Given the description of an element on the screen output the (x, y) to click on. 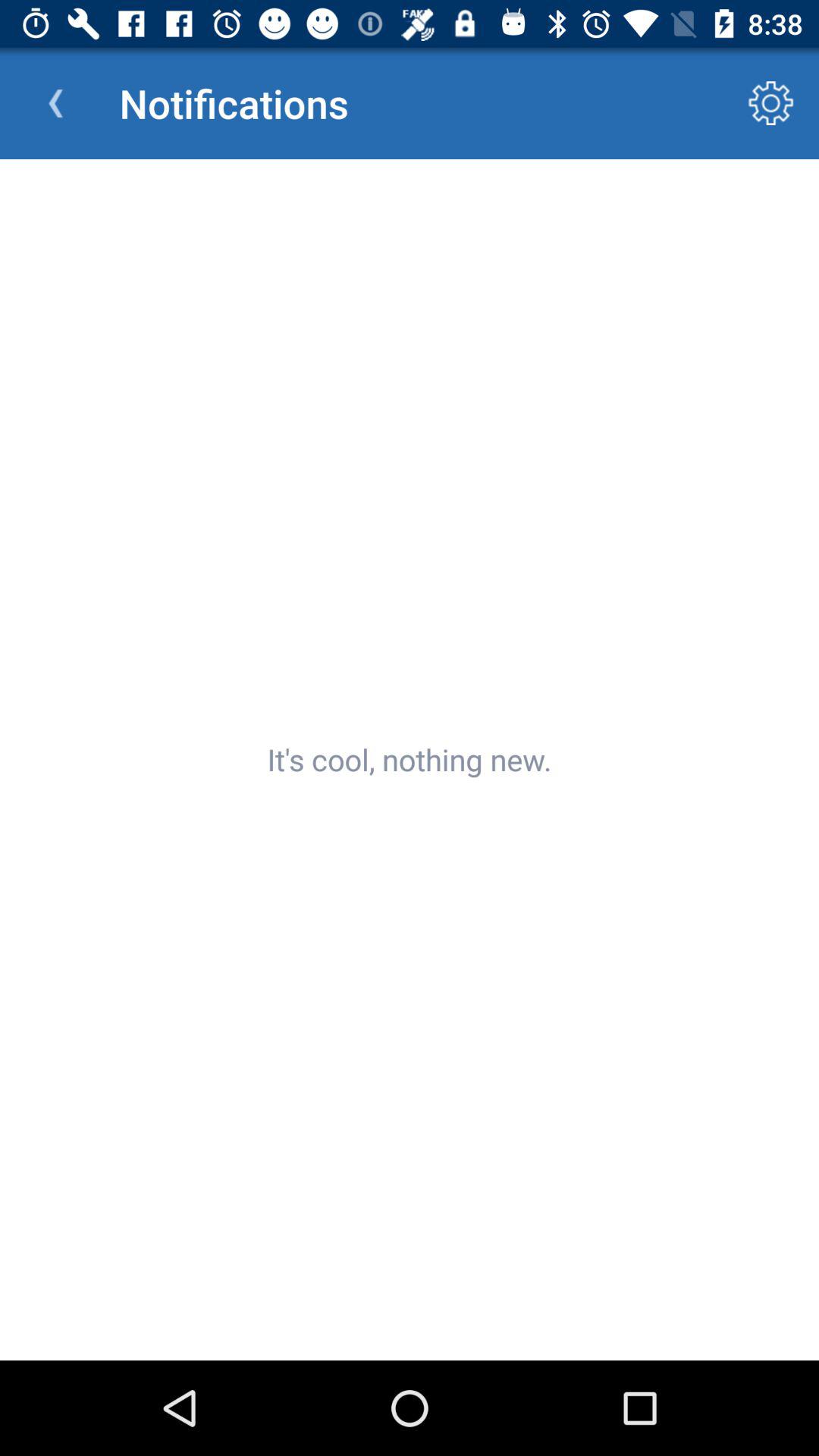
click item at the top right corner (771, 103)
